Given the description of an element on the screen output the (x, y) to click on. 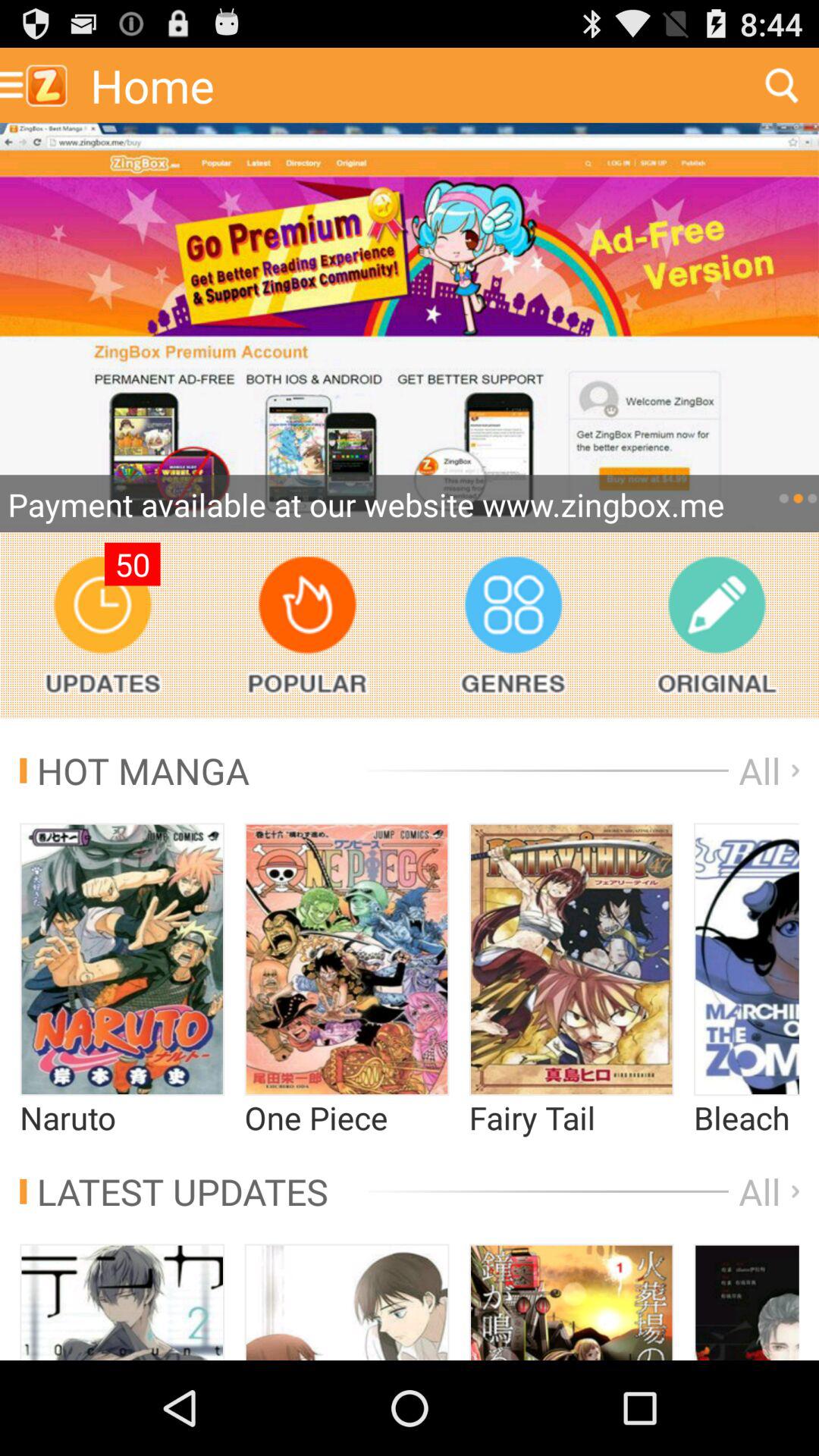
go to selate emojios (346, 958)
